Given the description of an element on the screen output the (x, y) to click on. 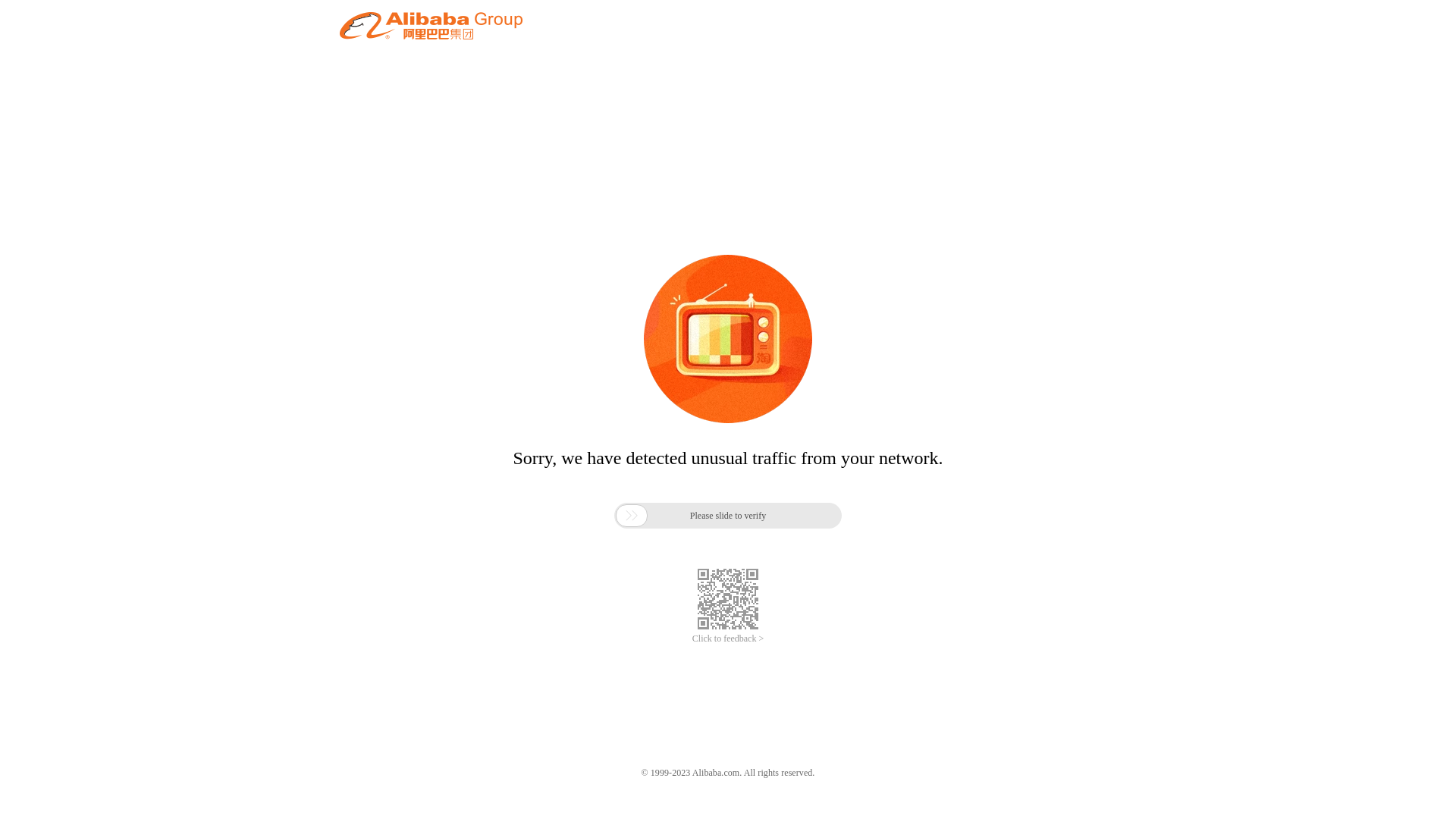
Click to feedback > Element type: text (727, 638)
